Given the description of an element on the screen output the (x, y) to click on. 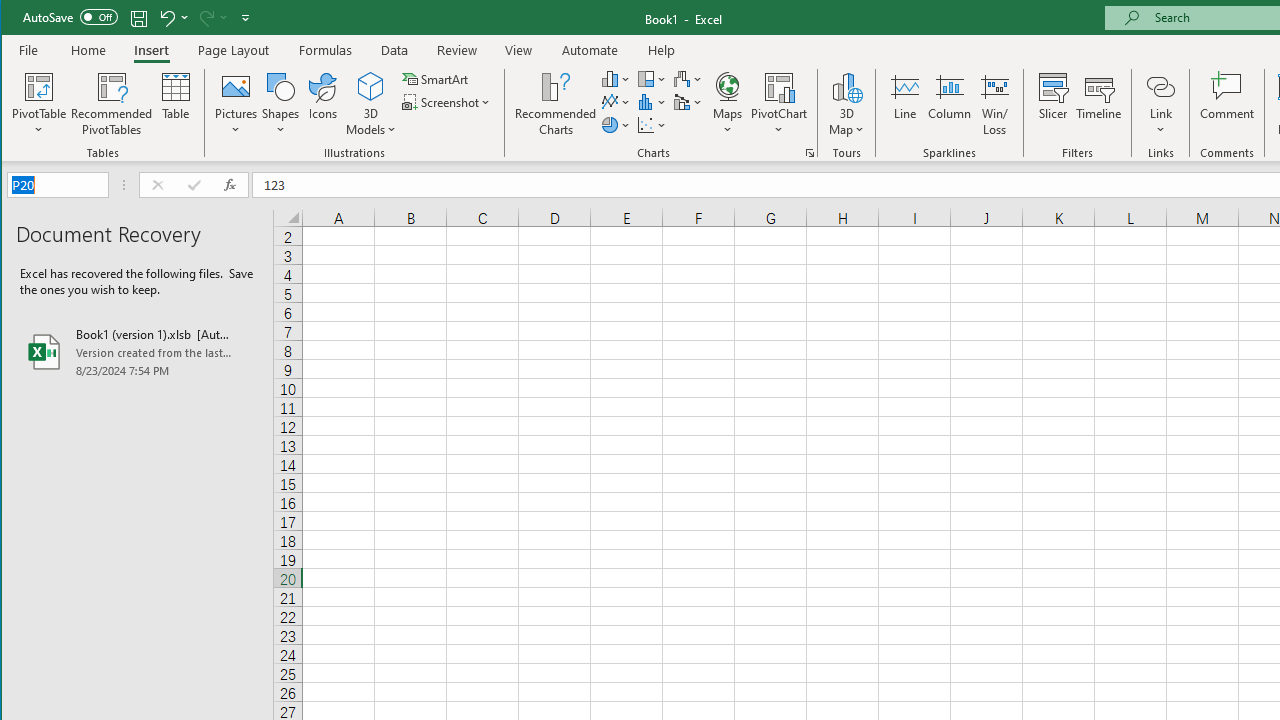
Recommended Charts (809, 152)
Insert Combo Chart (688, 101)
Timeline (1098, 104)
3D Map (846, 86)
Insert Column or Bar Chart (616, 78)
3D Models (371, 104)
